Given the description of an element on the screen output the (x, y) to click on. 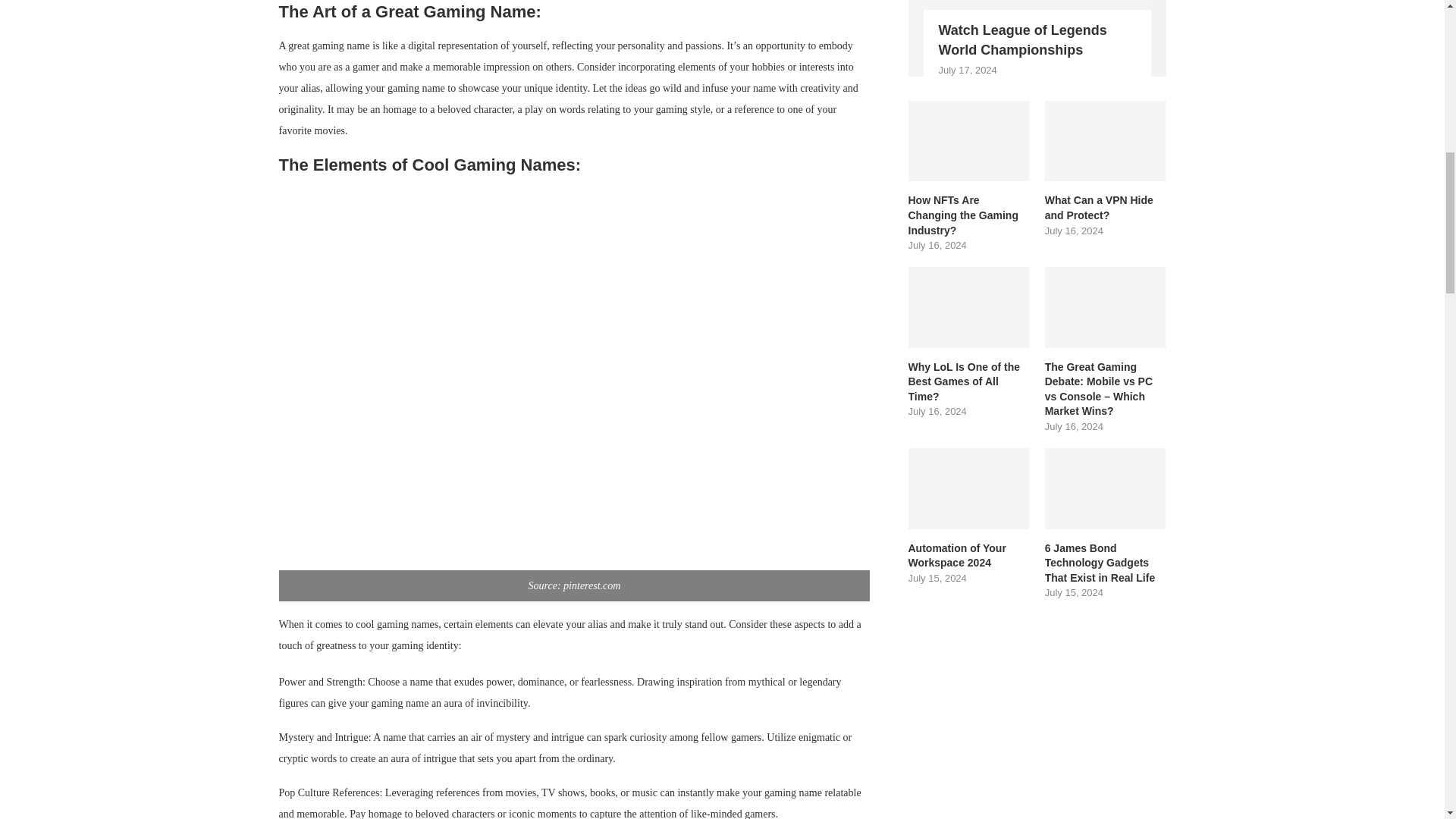
Watch League of Legends World Championships (1040, 39)
What Can a VPN Hide and Protect? (1105, 207)
Why LoL Is One of the Best Games of All Time? (968, 382)
How NFTs Are Changing the Gaming Industry? (968, 215)
What Can a VPN Hide and Protect? (1105, 140)
How NFTs Are Changing the Gaming Industry? (968, 140)
Watch League of Legends World Championships (1037, 38)
Why LoL Is One of the Best Games of All Time? (968, 307)
